Given the description of an element on the screen output the (x, y) to click on. 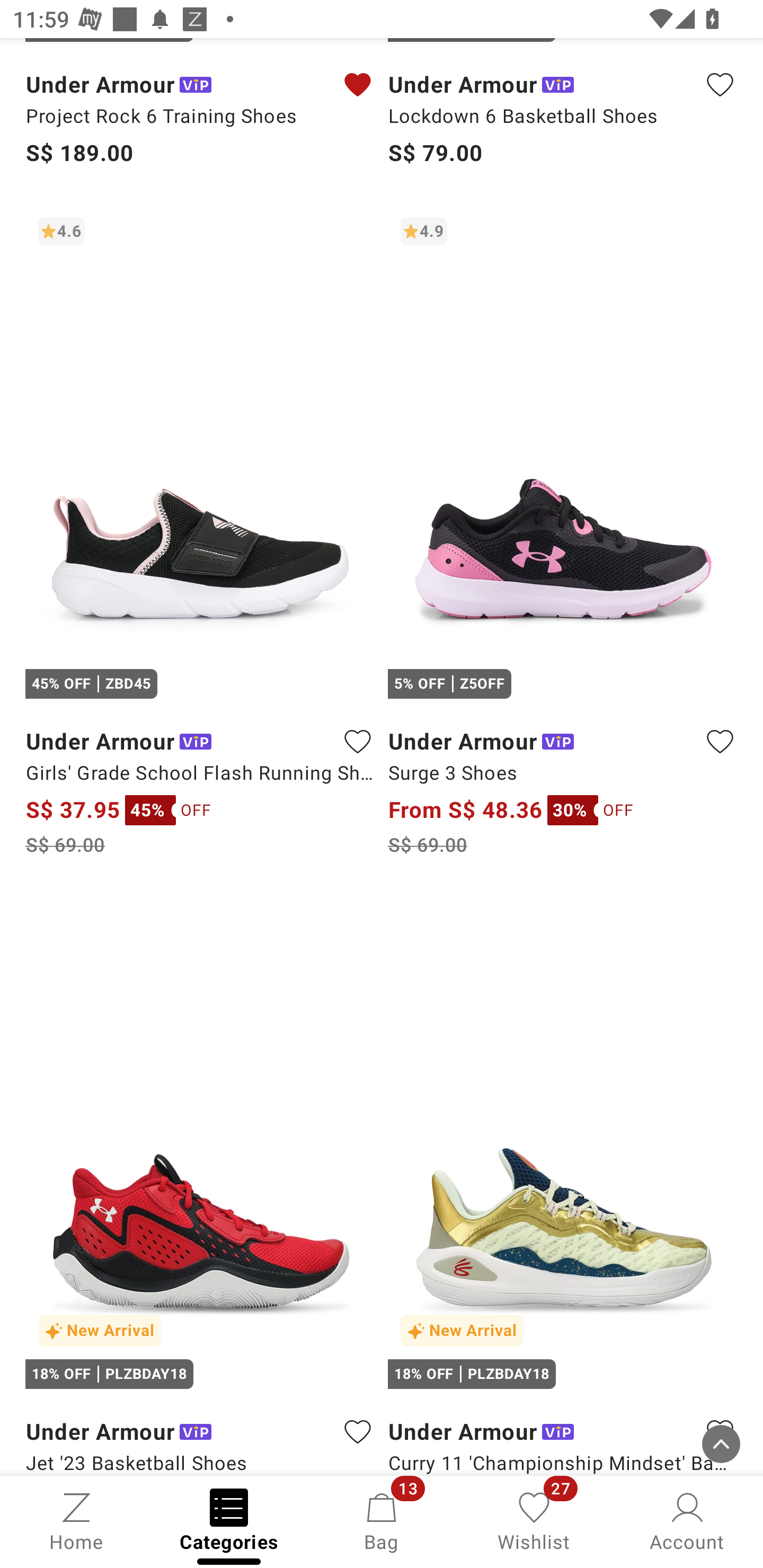
Home (76, 1519)
Bag, 13 new notifications Bag (381, 1519)
Wishlist, 27 new notifications Wishlist (533, 1519)
Account (686, 1519)
